Given the description of an element on the screen output the (x, y) to click on. 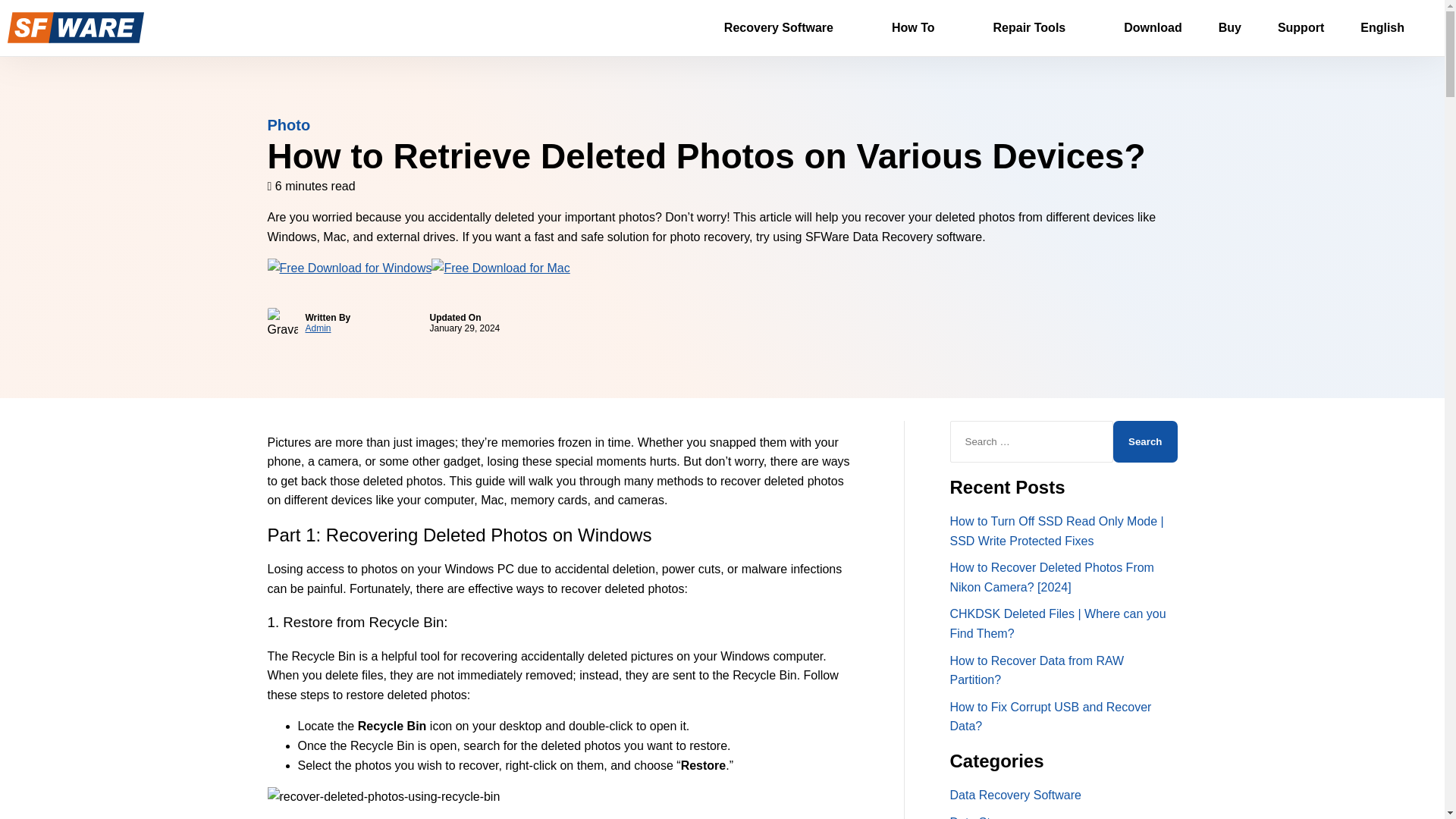
Repair Tools (1040, 28)
Search (1144, 441)
Buy (1229, 28)
Gravatar for Admin (281, 322)
Support (1300, 28)
sfware (75, 27)
Recovery Software (789, 28)
How To (924, 28)
Download (1152, 28)
Search (1144, 441)
